Given the description of an element on the screen output the (x, y) to click on. 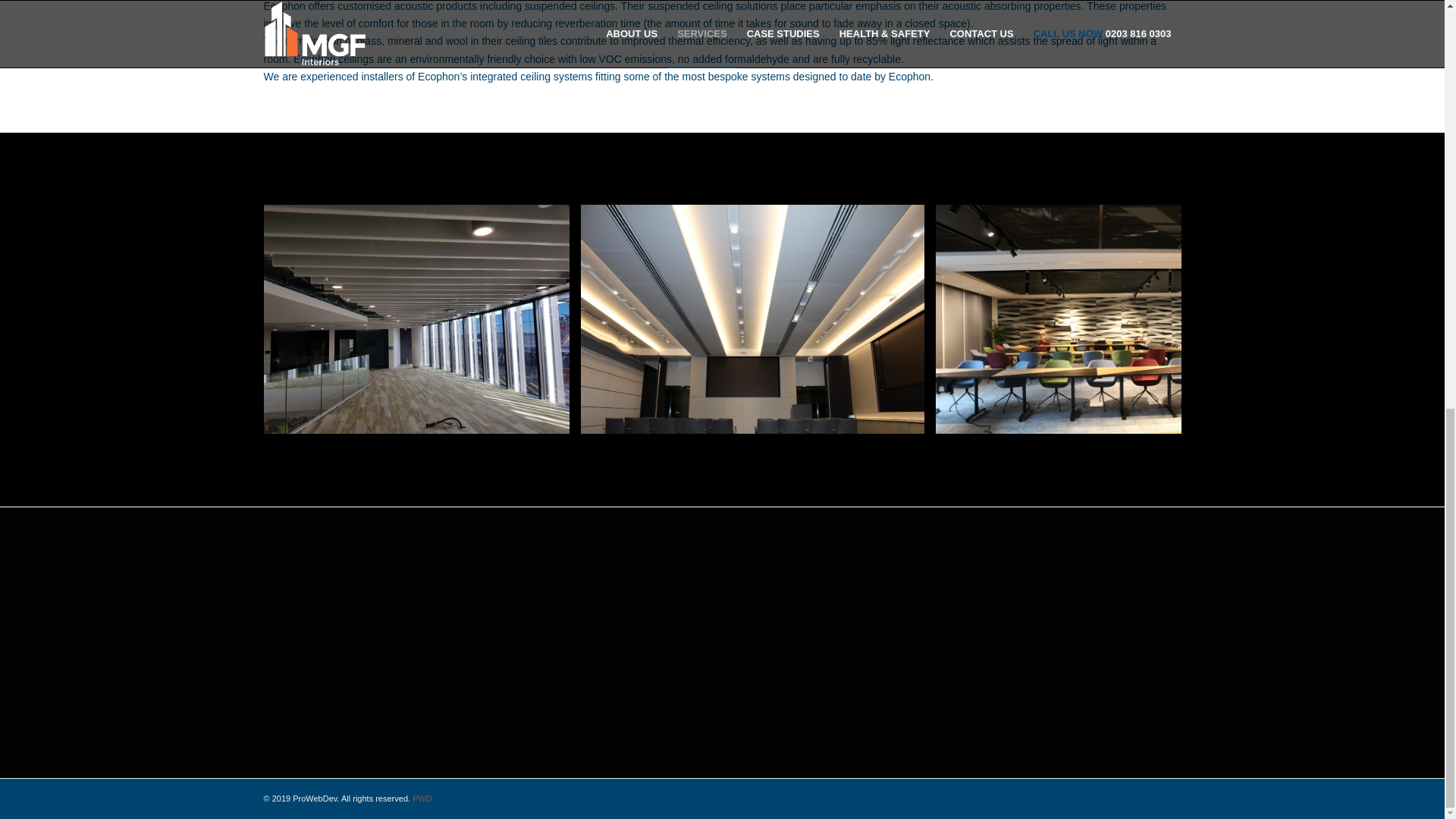
PWD (422, 798)
